Given the description of an element on the screen output the (x, y) to click on. 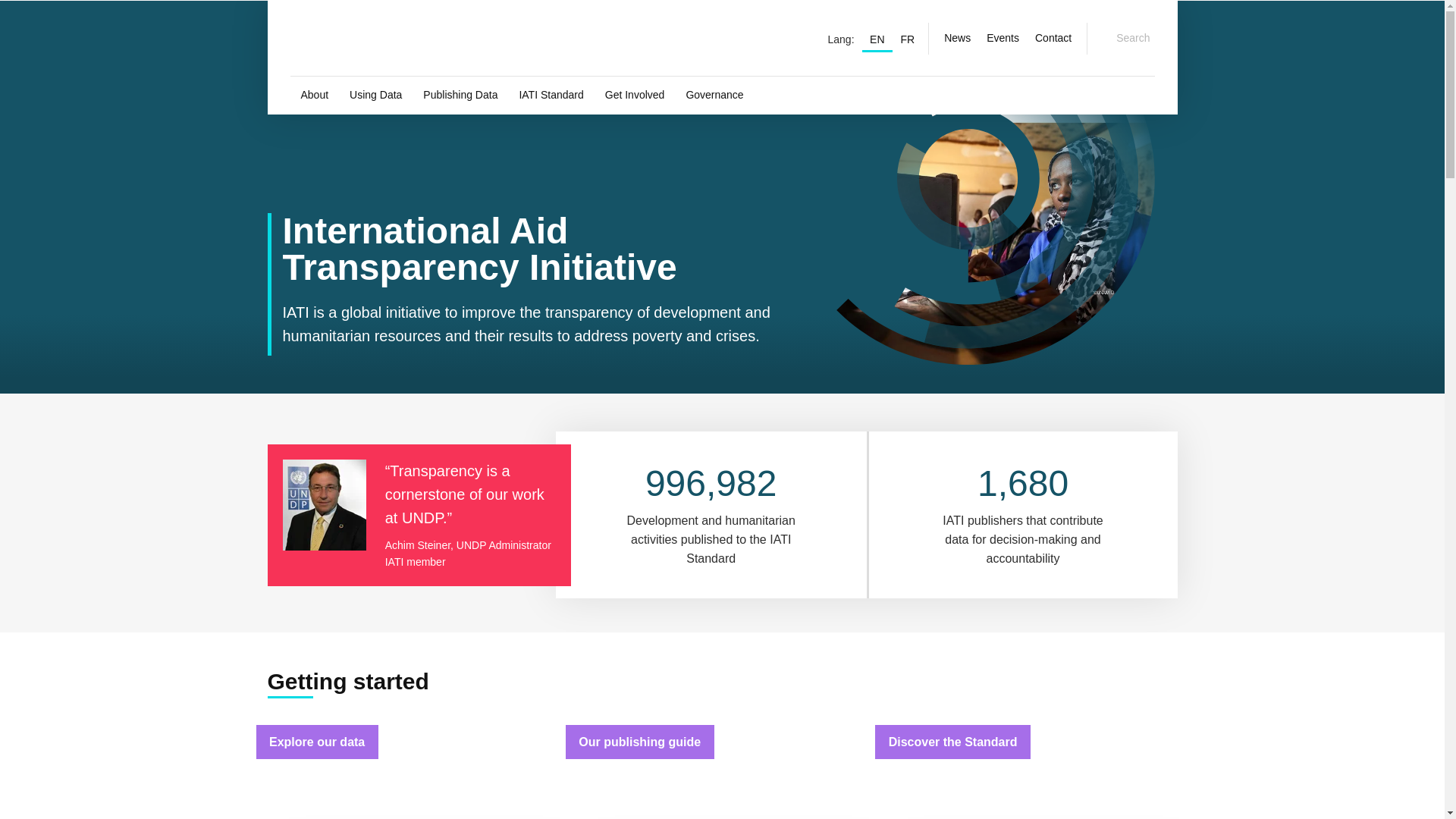
Using Data (375, 95)
Search (1124, 38)
FR (907, 37)
About (314, 95)
Events (1003, 37)
Contact (1053, 37)
News (957, 37)
Publishing Data (460, 95)
EN (876, 37)
